Given the description of an element on the screen output the (x, y) to click on. 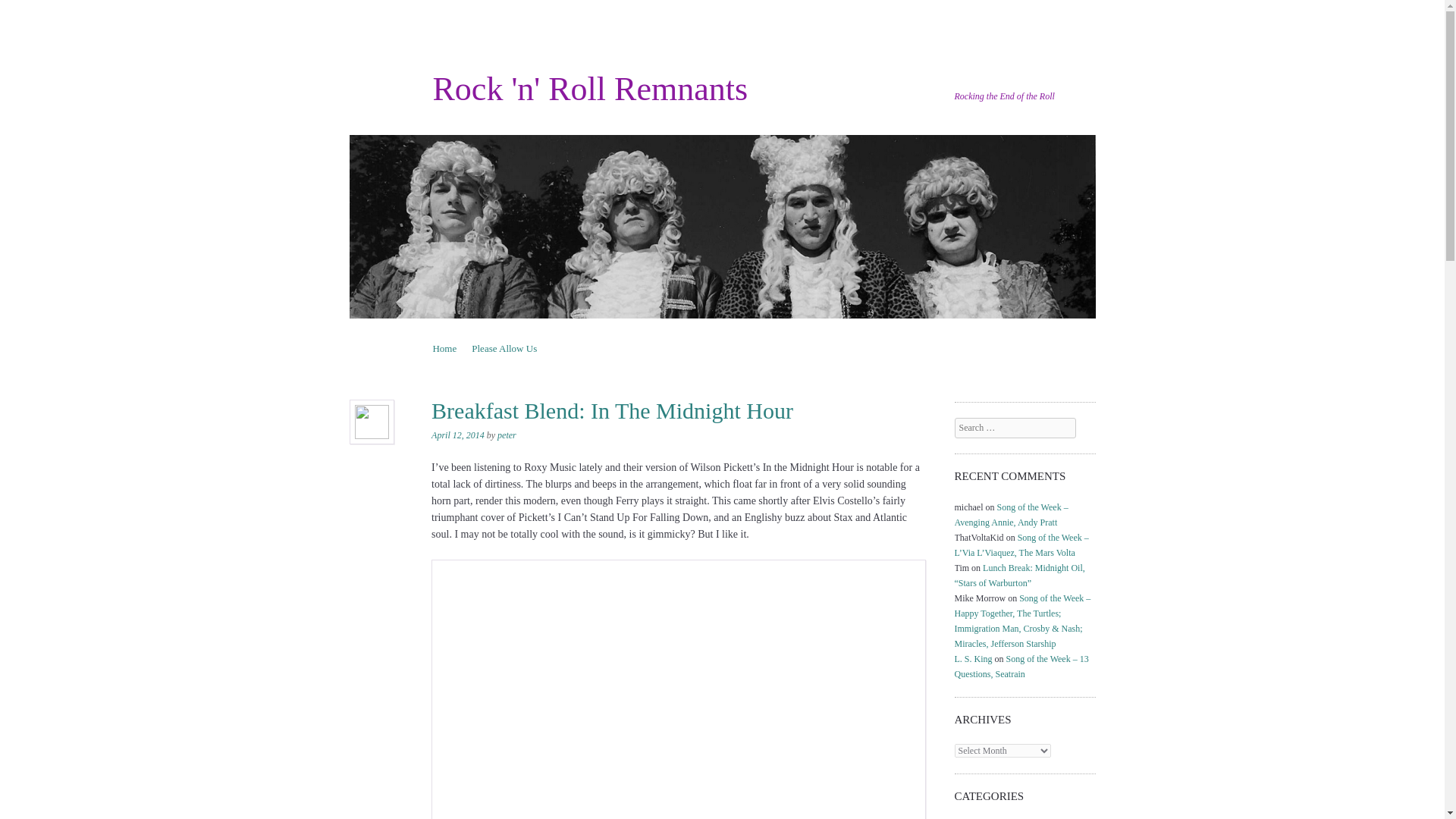
Search (32, 11)
12:06 pm (457, 434)
View all posts by peter (506, 434)
Skip to content (462, 348)
Rock 'n' Roll Remnants (590, 88)
Skip to content (462, 348)
Please Allow Us (504, 348)
L. S. King (973, 658)
peter (506, 434)
Rock 'n' Roll Remnants (590, 88)
April 12, 2014 (457, 434)
Home (444, 348)
